Given the description of an element on the screen output the (x, y) to click on. 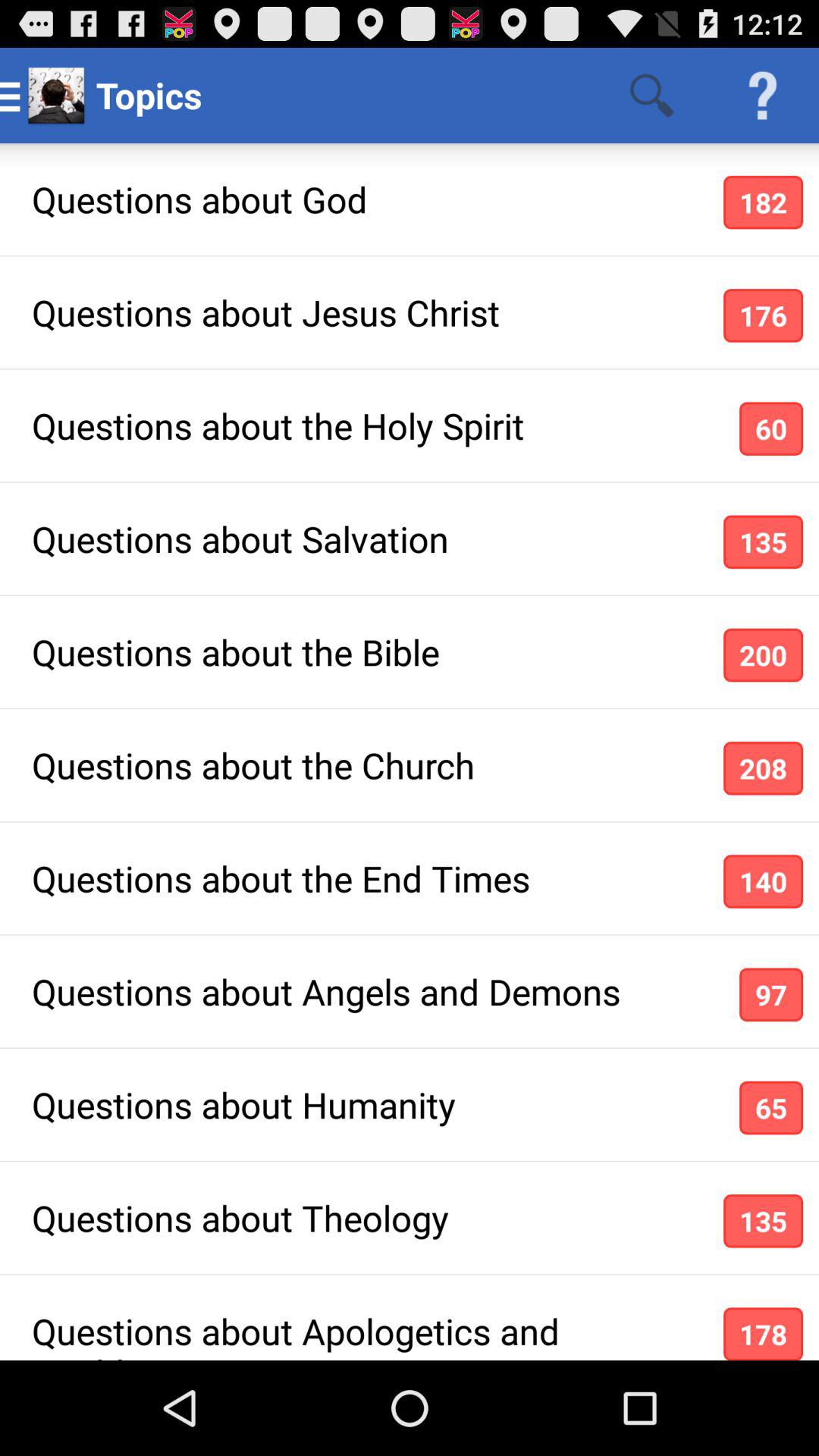
turn on icon above the 135 icon (771, 1107)
